Given the description of an element on the screen output the (x, y) to click on. 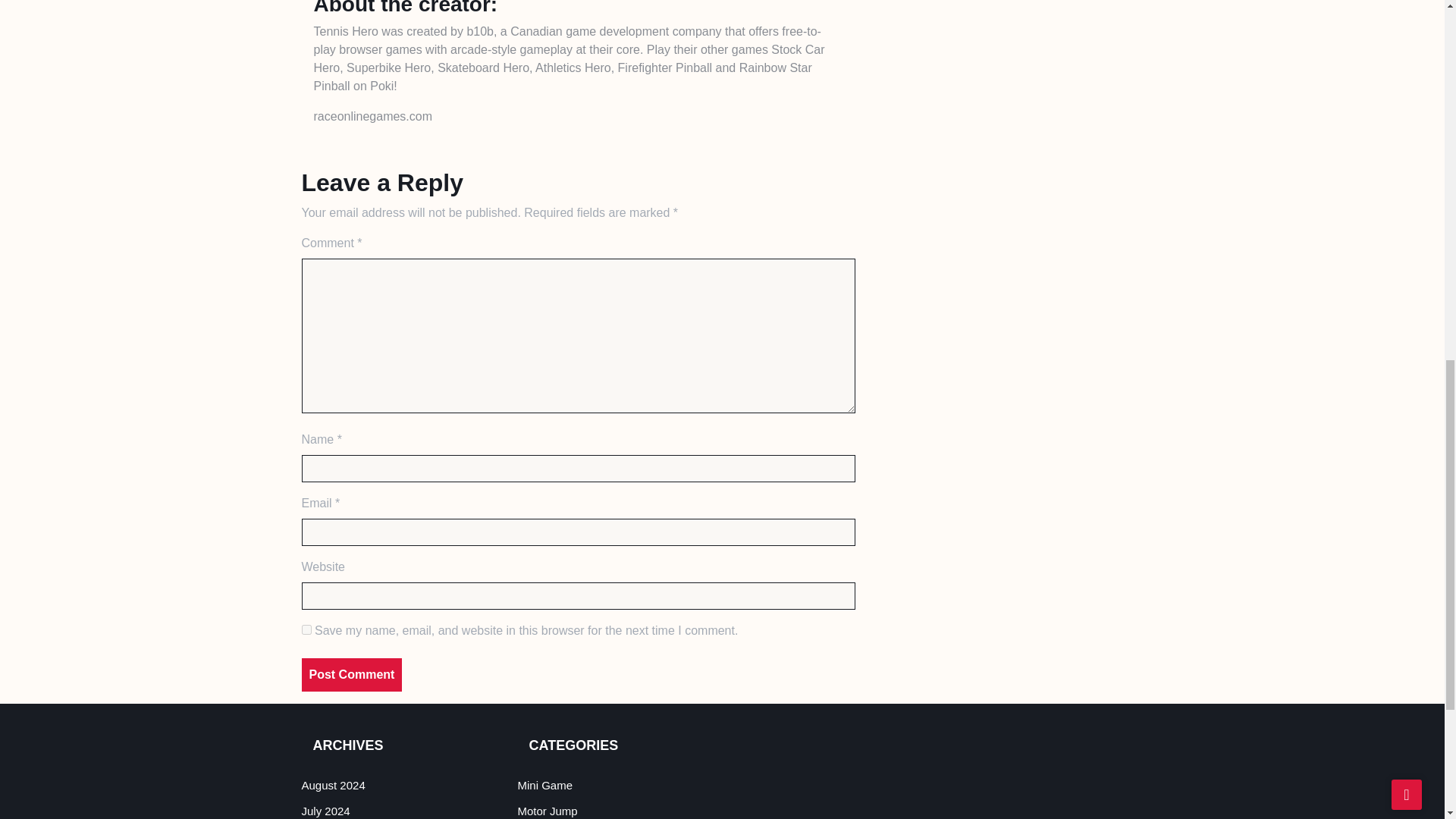
Post Comment (352, 674)
Post Comment (352, 674)
Mini Game (544, 784)
July 2024 (325, 810)
yes (306, 629)
August 2024 (333, 784)
Motor Jump (546, 810)
